Given the description of an element on the screen output the (x, y) to click on. 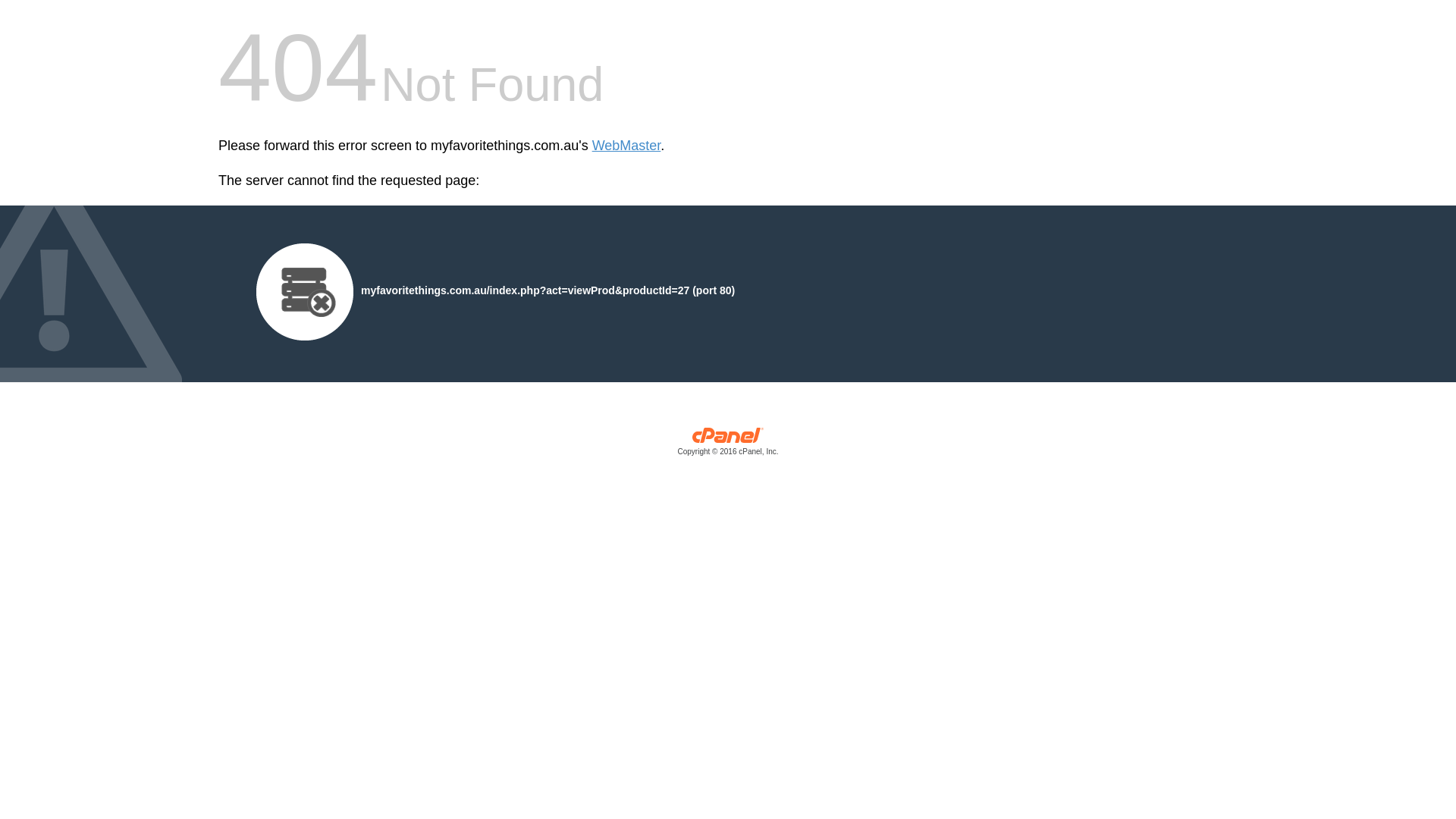
WebMaster Element type: text (626, 145)
